Given the description of an element on the screen output the (x, y) to click on. 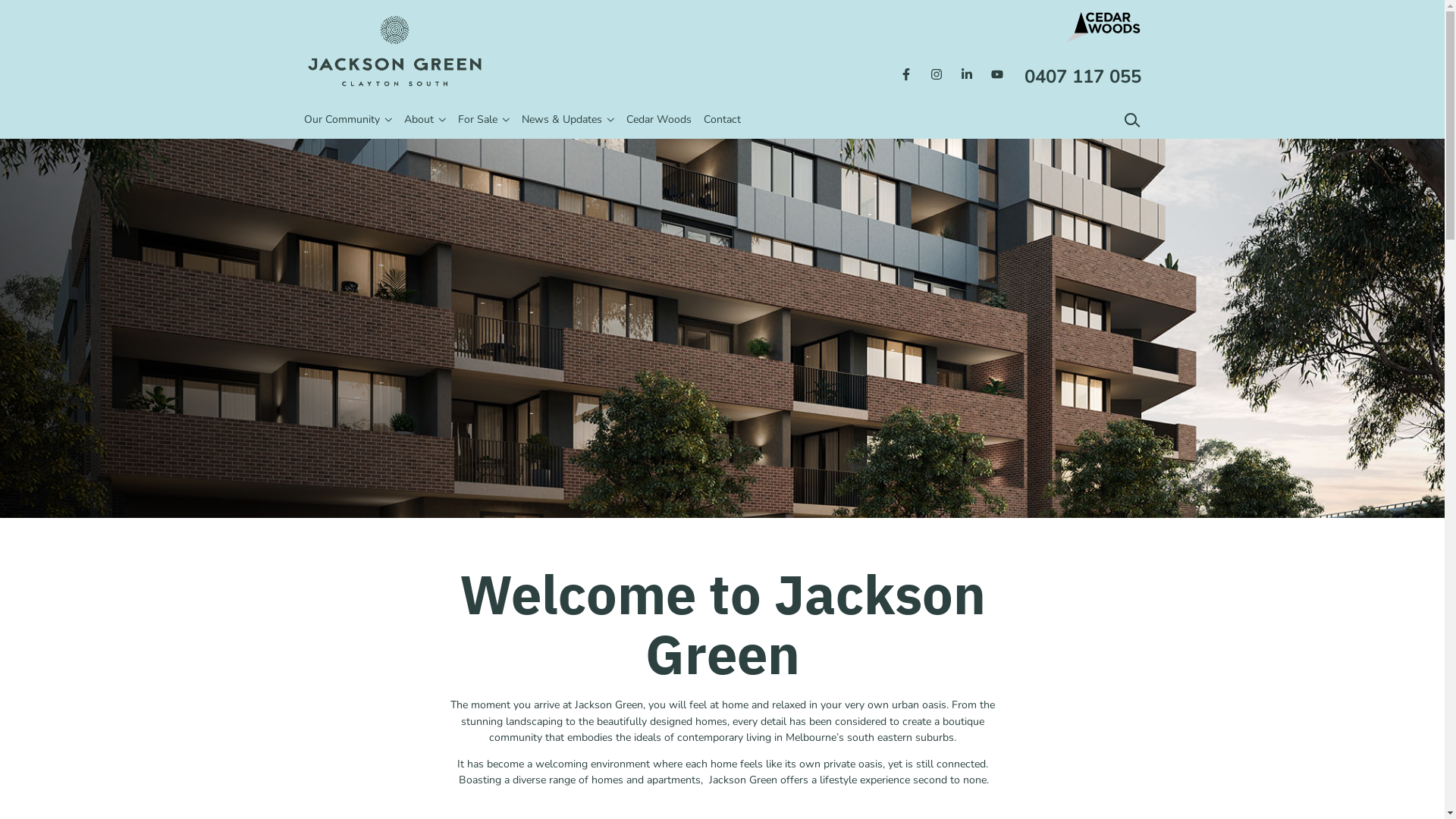
About Element type: text (418, 120)
Cedar Woods Element type: text (658, 120)
For Sale Element type: text (477, 120)
News & Updates Element type: text (561, 120)
Our Community Element type: text (341, 120)
Contact Element type: text (721, 120)
0407 117 055 Element type: text (1081, 76)
